Given the description of an element on the screen output the (x, y) to click on. 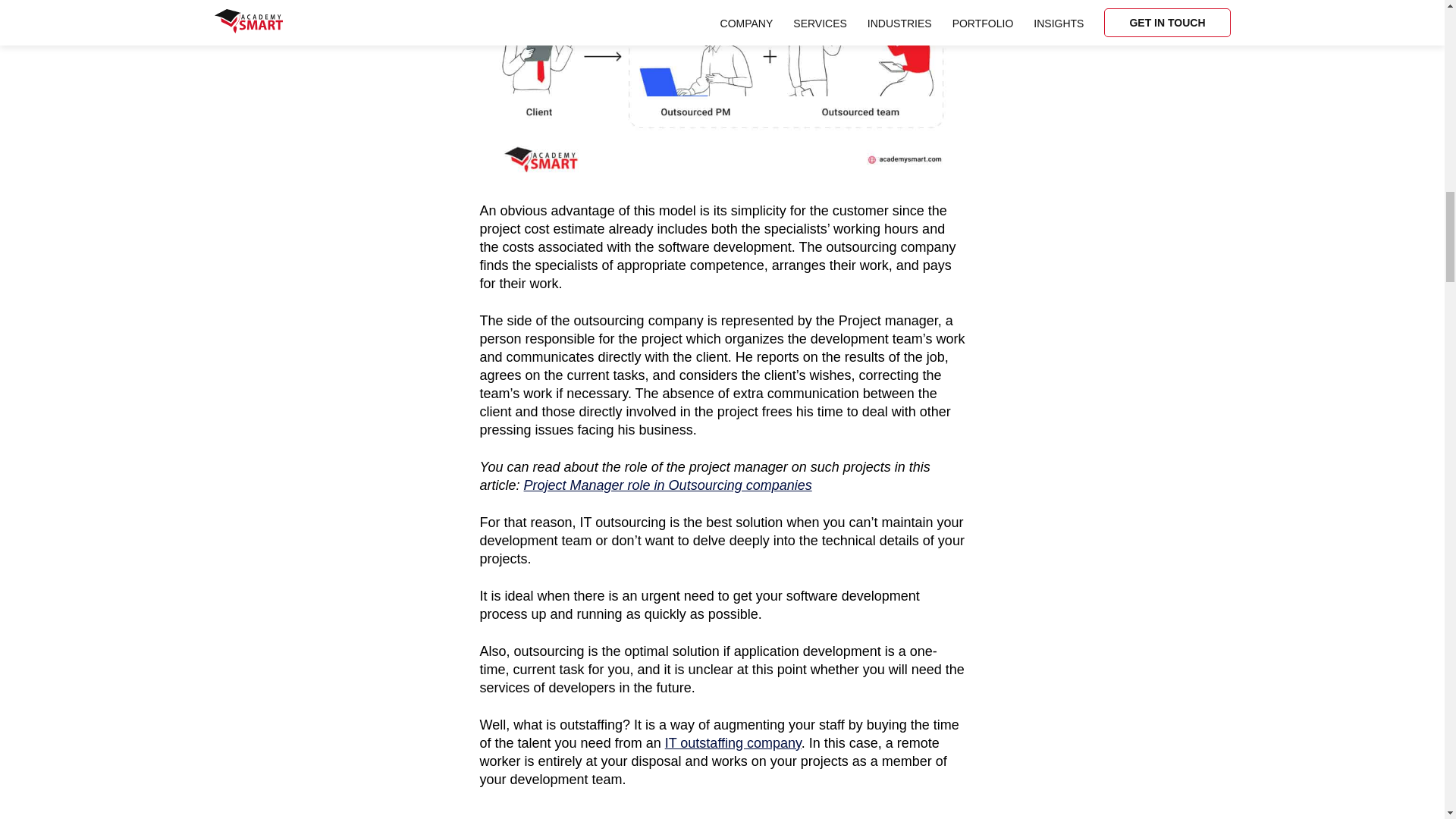
Project Manager role in Outsourcing companies (668, 485)
IT outstaffing company (733, 743)
